Given the description of an element on the screen output the (x, y) to click on. 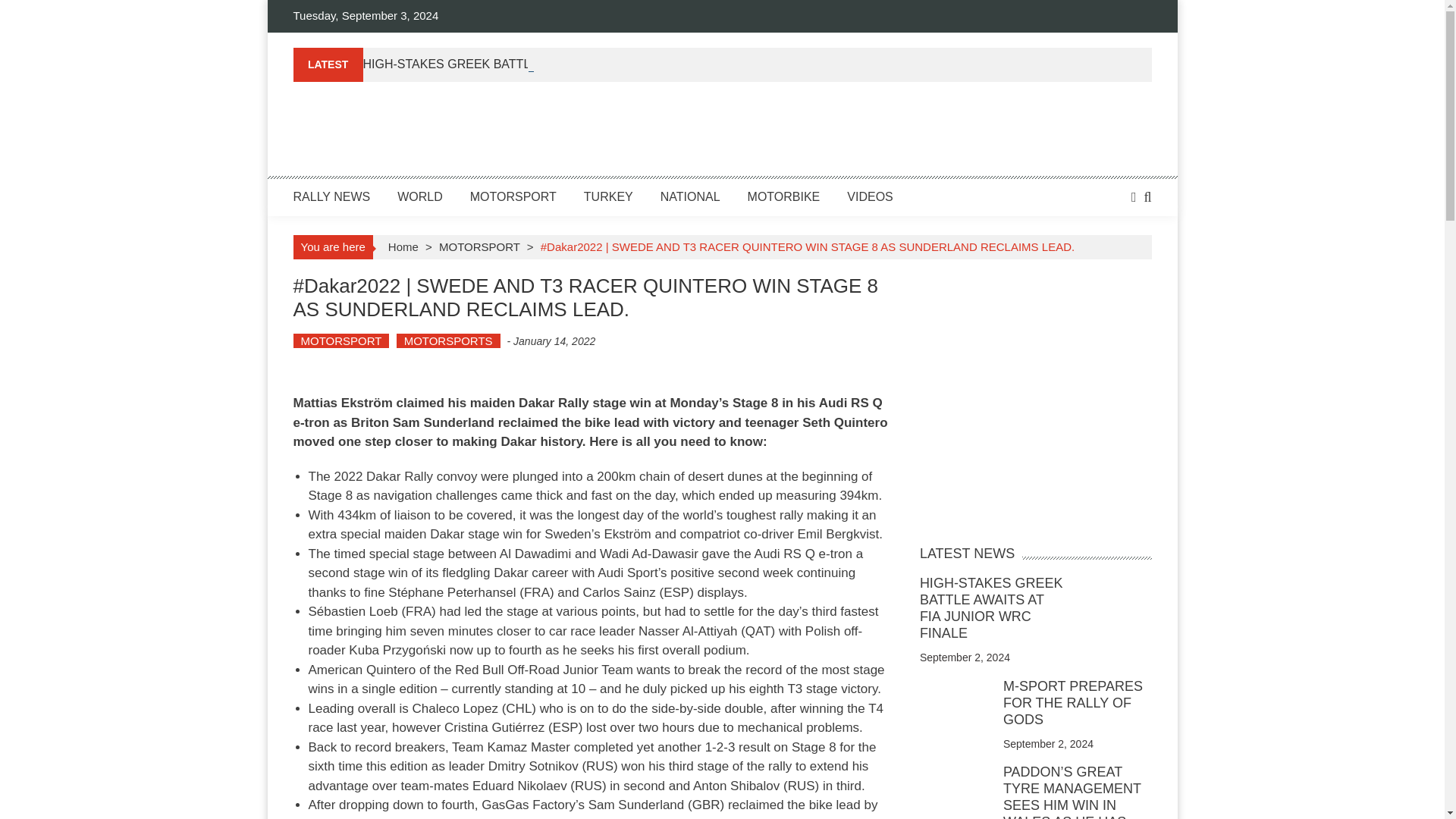
MOTORSPORTS (448, 340)
TURKEY (608, 195)
VIDEOS (869, 195)
NATIONAL (690, 195)
RALLY NEWS (330, 195)
MOTORBIKE (784, 195)
MOTORSPORT (340, 340)
MOTORSPORT (513, 195)
MOTORSPORT (479, 245)
WORLD (419, 195)
